Given the description of an element on the screen output the (x, y) to click on. 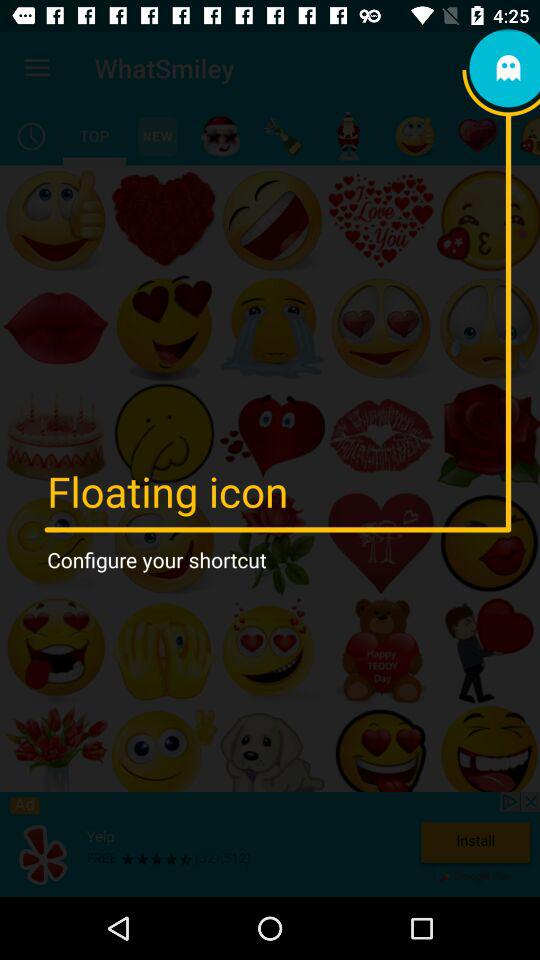
top emojis (94, 136)
